Given the description of an element on the screen output the (x, y) to click on. 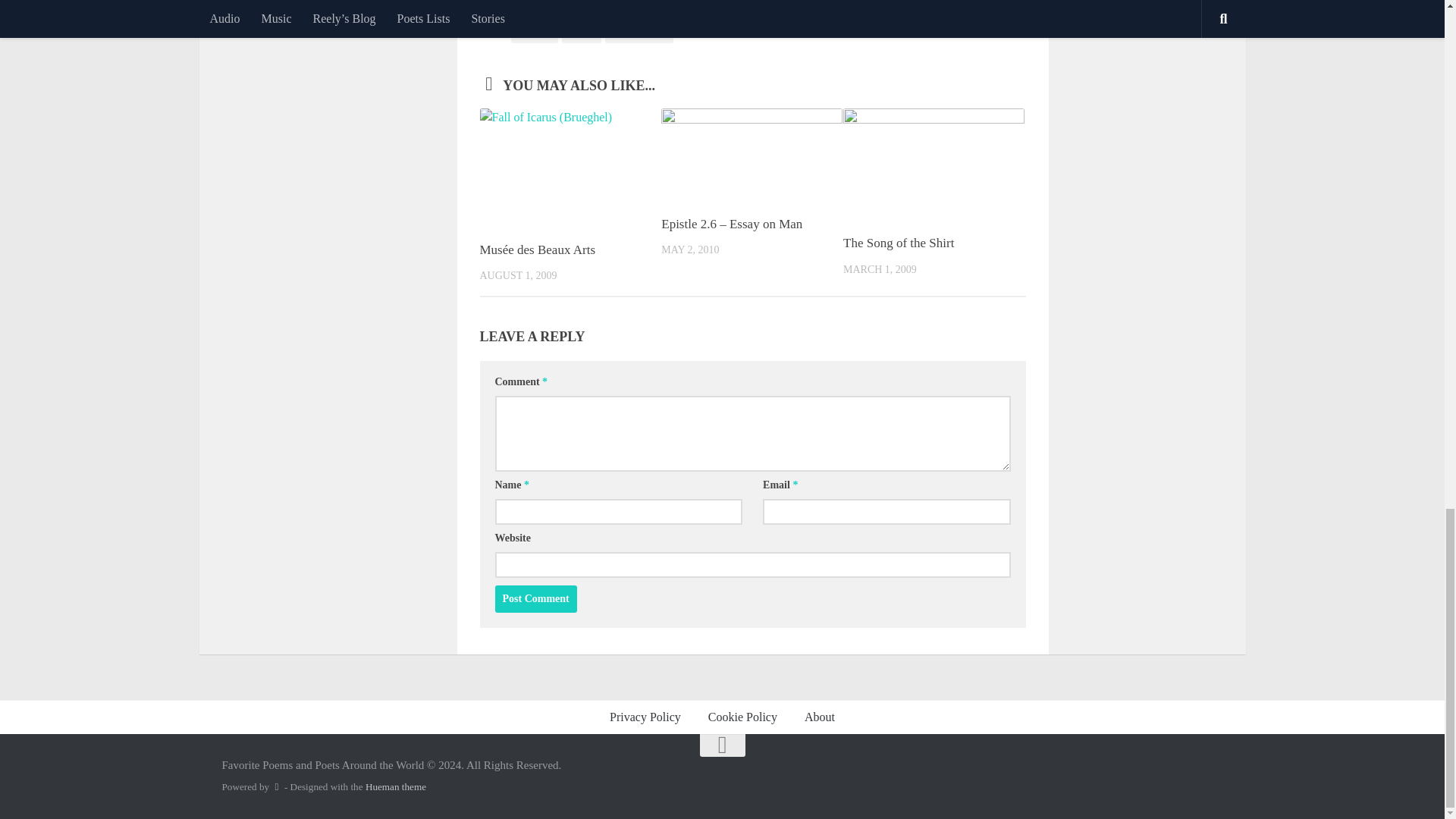
Hueman theme (395, 786)
Powered by WordPress (275, 786)
Post Comment (535, 598)
